Given the description of an element on the screen output the (x, y) to click on. 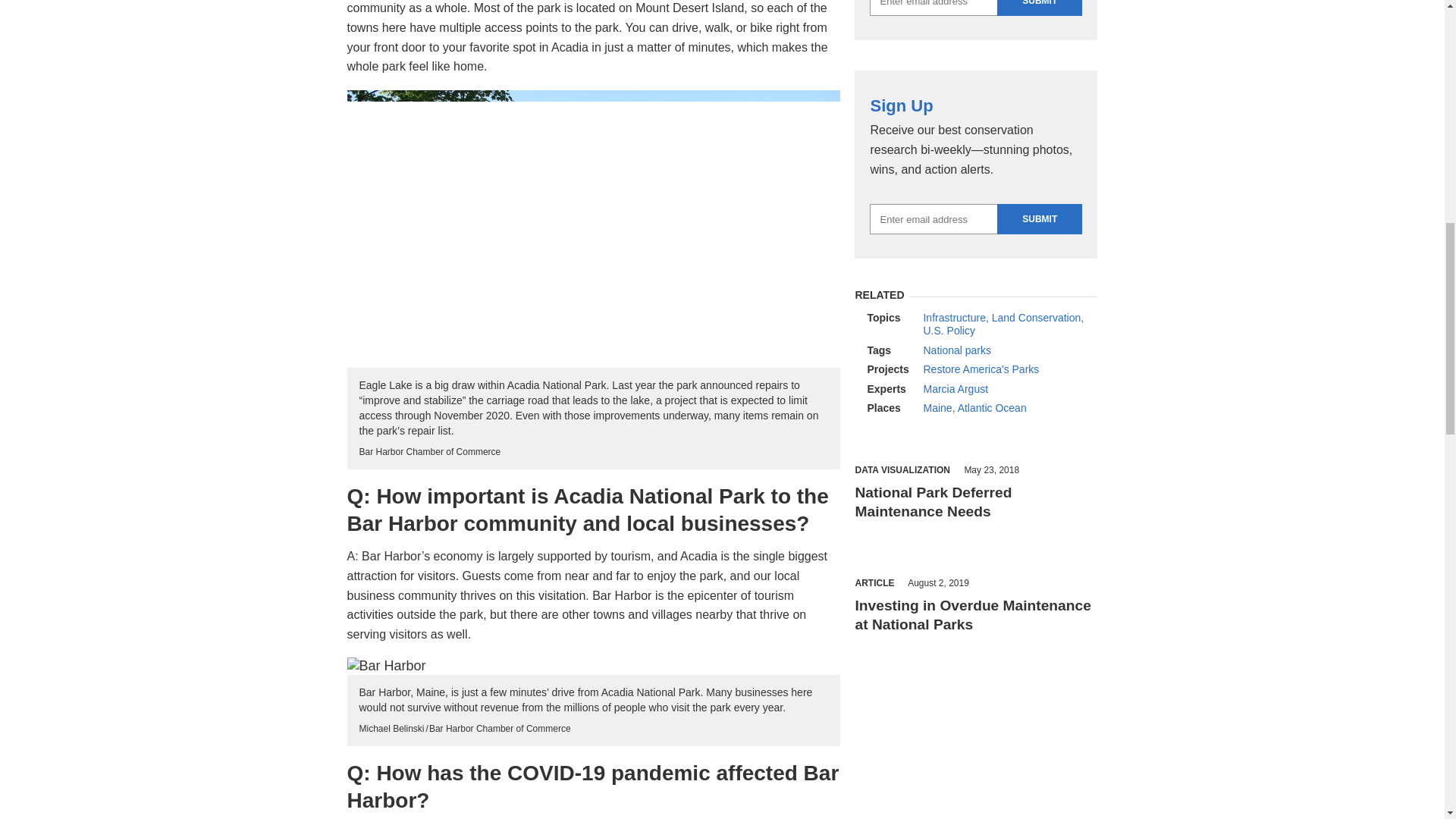
Submit (1039, 218)
Bar Harbor  (593, 665)
Submit (1039, 7)
